Given the description of an element on the screen output the (x, y) to click on. 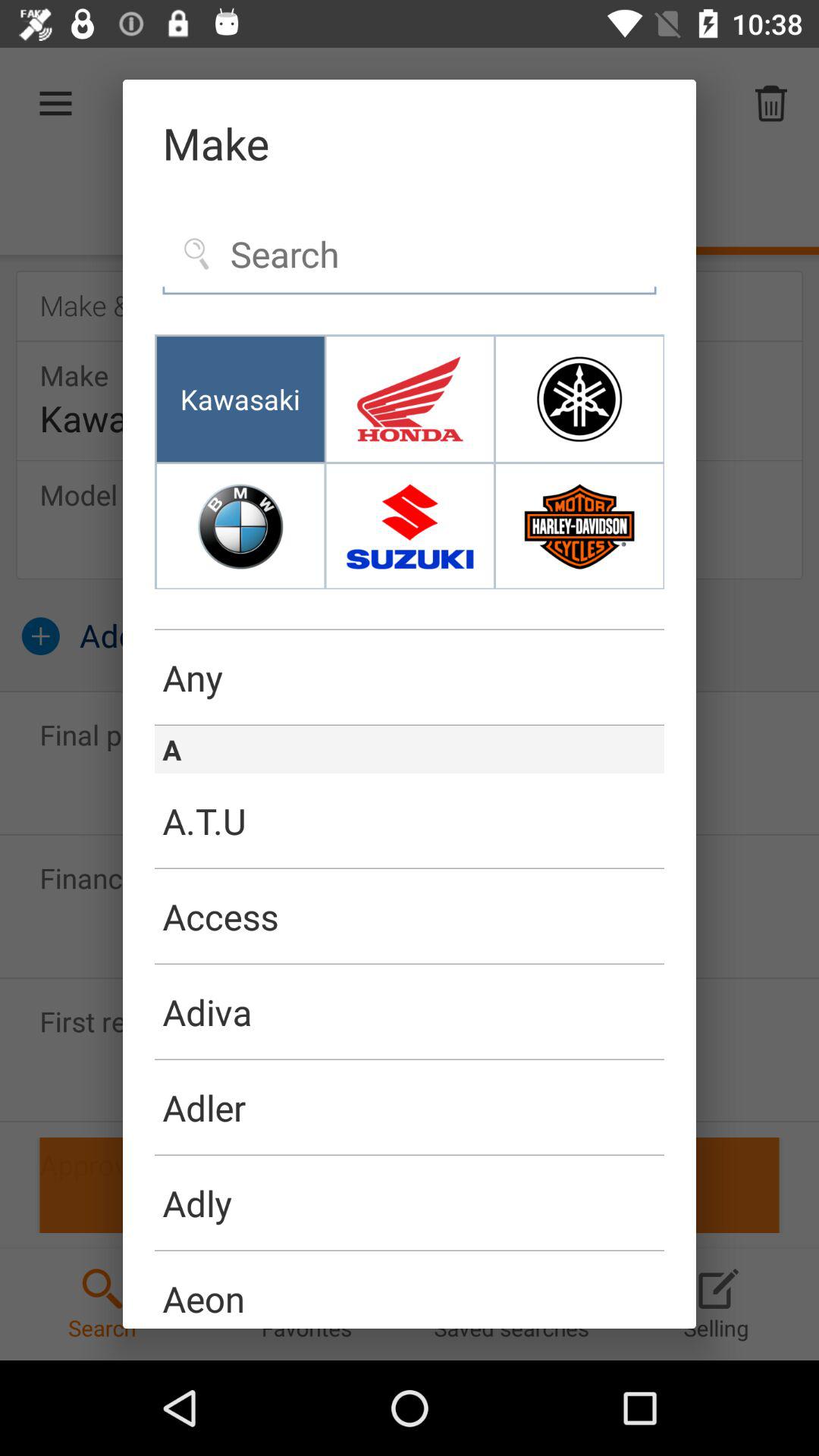
search bar (409, 254)
